Given the description of an element on the screen output the (x, y) to click on. 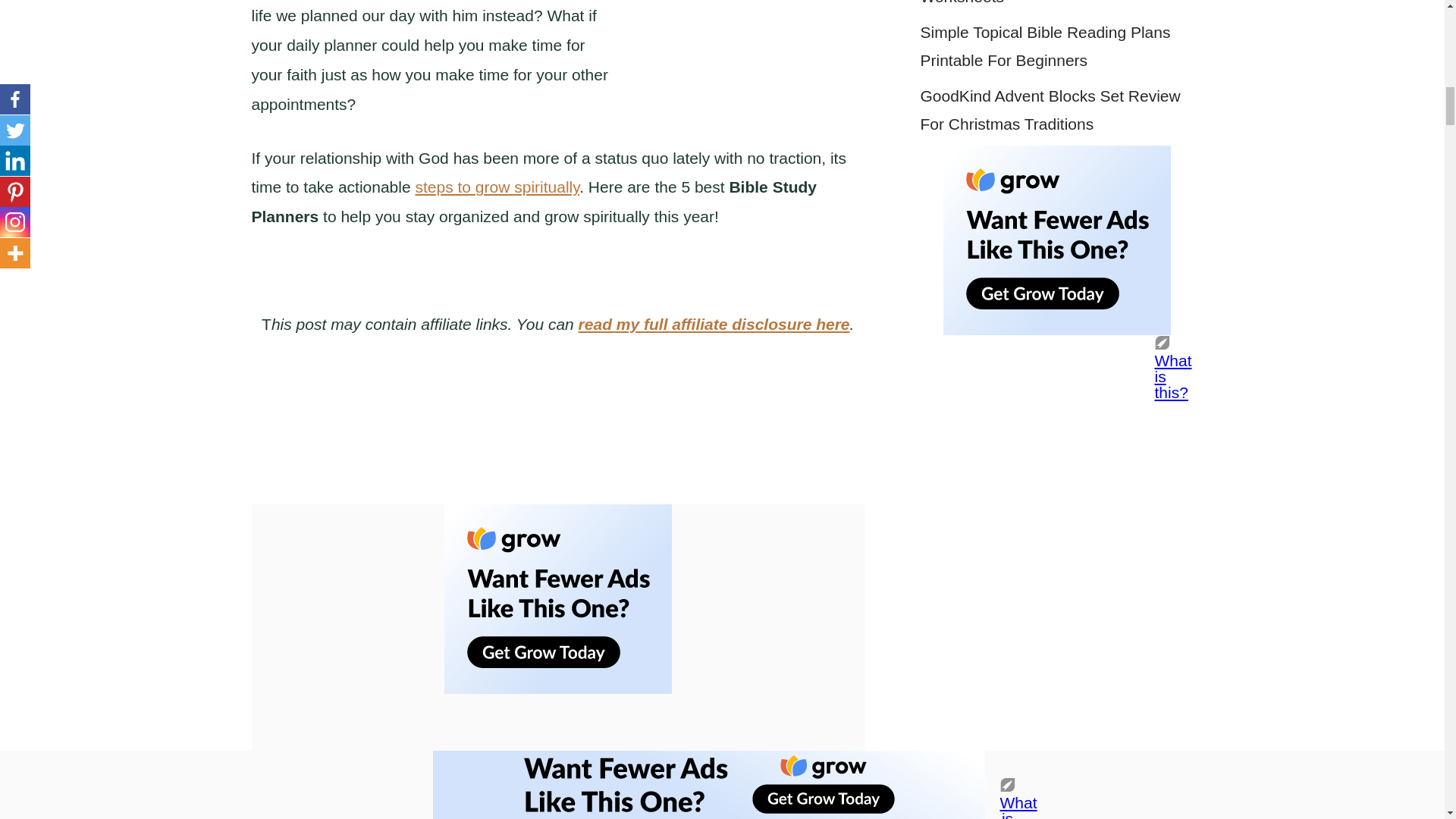
show (425, 446)
steps to grow spiritually (496, 186)
read my full affiliate disclosure here (714, 323)
